Given the description of an element on the screen output the (x, y) to click on. 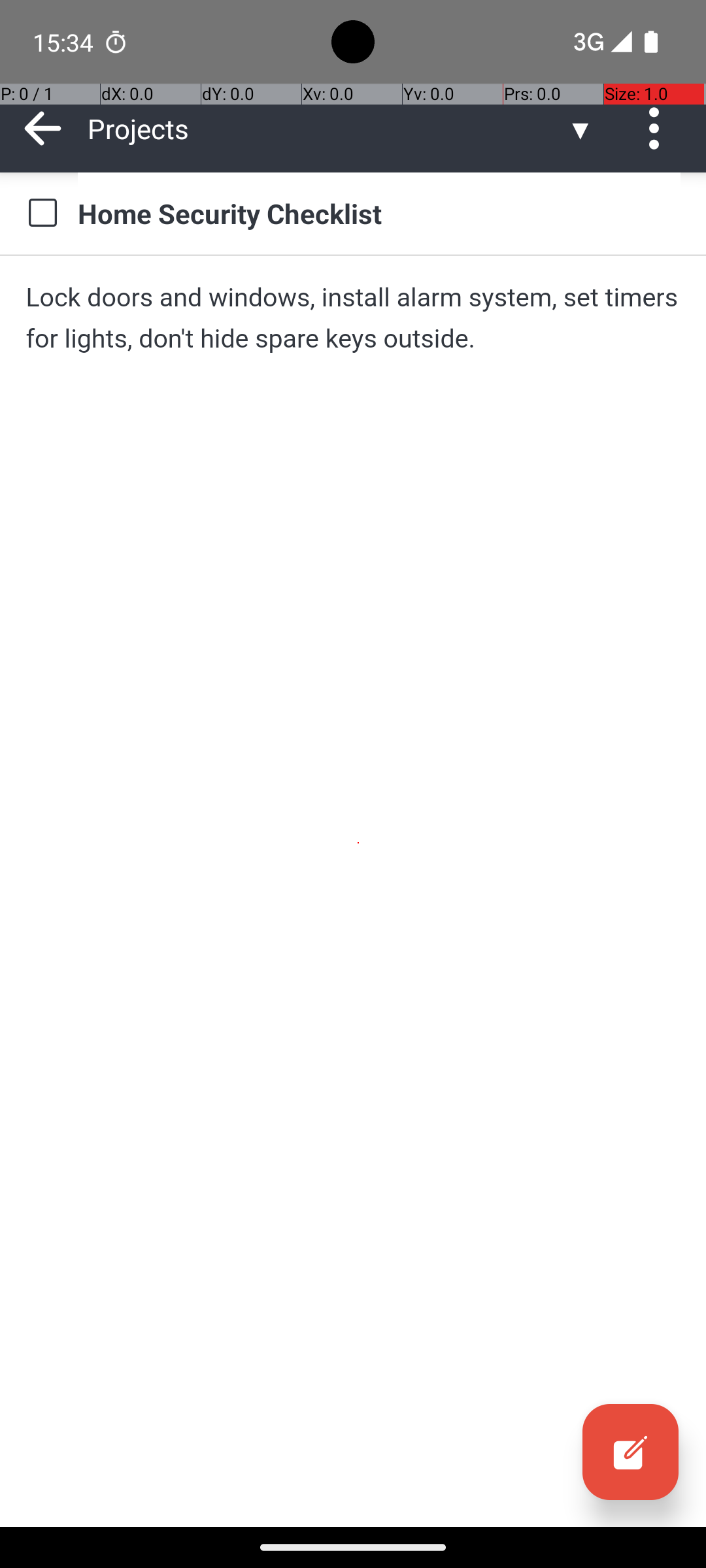
Home Security Checklist Element type: android.widget.EditText (378, 213)
Lock doors and windows, install alarm system, set timers for lights, don't hide spare keys outside. Element type: android.widget.TextView (352, 317)
